Given the description of an element on the screen output the (x, y) to click on. 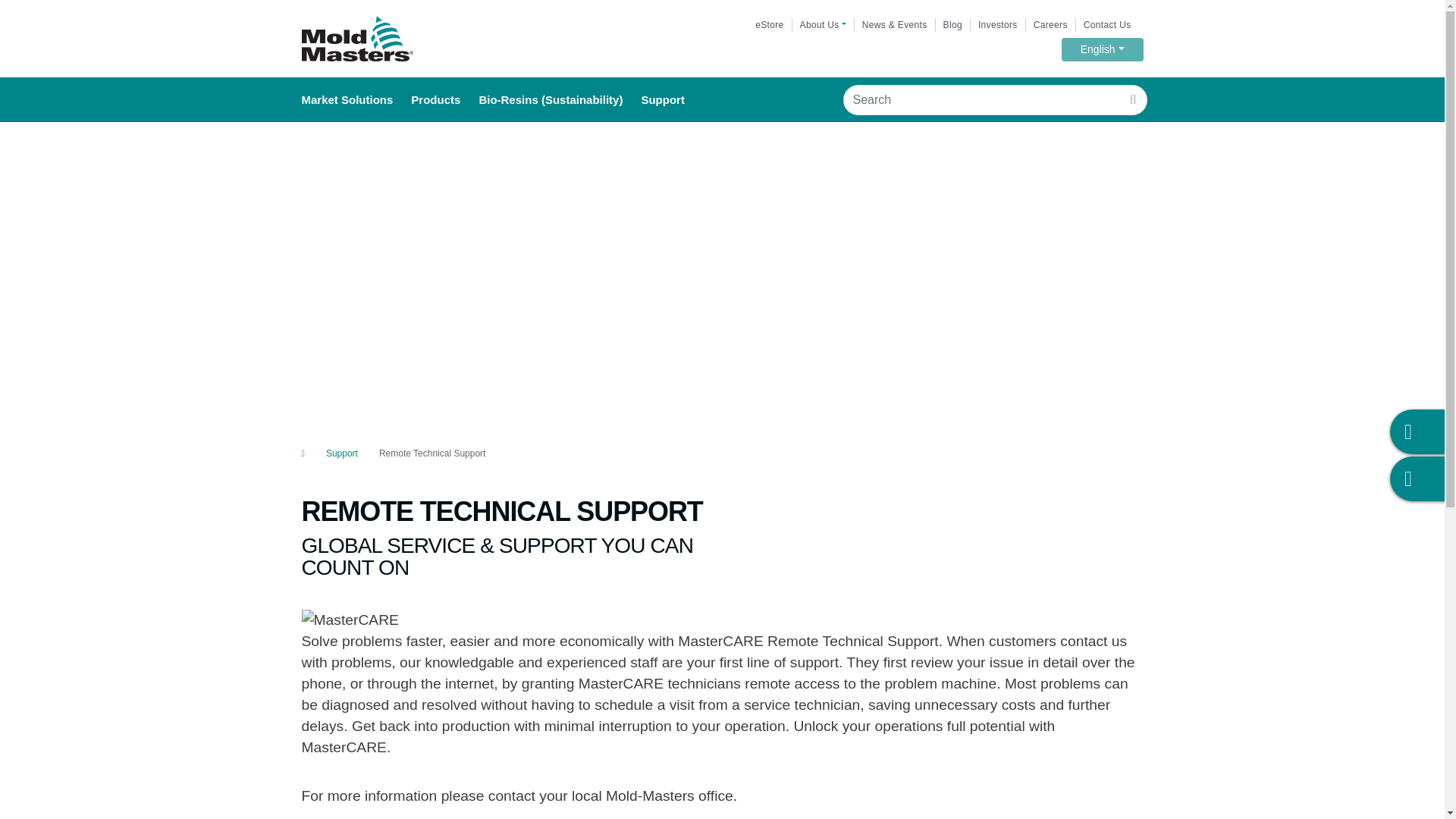
Skip to main content (1101, 49)
eStore (721, 1)
Investors (769, 25)
Enter the terms you wish to search for. (997, 25)
About Us (981, 99)
Contact Us (822, 25)
Home (1107, 25)
Hillenbrand Investor Relations (357, 38)
Blog (997, 25)
Products (952, 25)
eStore (444, 99)
Careers (769, 25)
Market Solutions (1050, 25)
Market Solutions (356, 99)
